Given the description of an element on the screen output the (x, y) to click on. 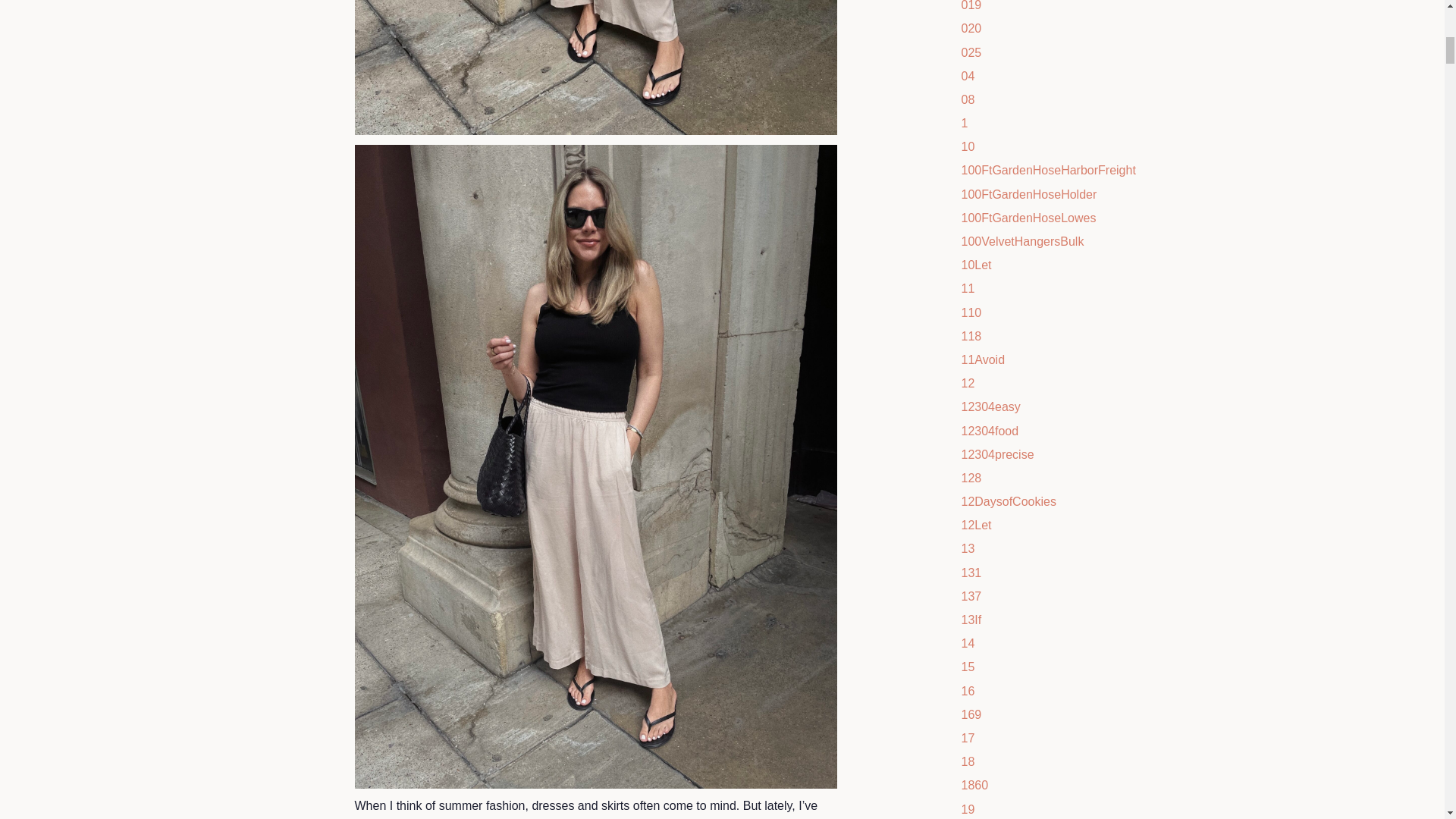
Show articles tagged 100FtGardenHoseLowes (1028, 217)
Show articles tagged 1 (964, 123)
Show articles tagged 04 (967, 75)
Show articles tagged 11 (967, 287)
Show articles tagged 08 (967, 99)
Show articles tagged 10 (967, 146)
Show articles tagged 025 (970, 51)
Show articles tagged 110 (970, 312)
Show articles tagged 10Let (975, 264)
Show articles tagged 118 (970, 336)
Show articles tagged 100FtGardenHoseHarborFreight (1047, 169)
Show articles tagged 100FtGardenHoseHolder (1028, 194)
Show articles tagged 12 (967, 382)
Show articles tagged 020 (970, 28)
Show articles tagged 100VelvetHangersBulk (1022, 241)
